Given the description of an element on the screen output the (x, y) to click on. 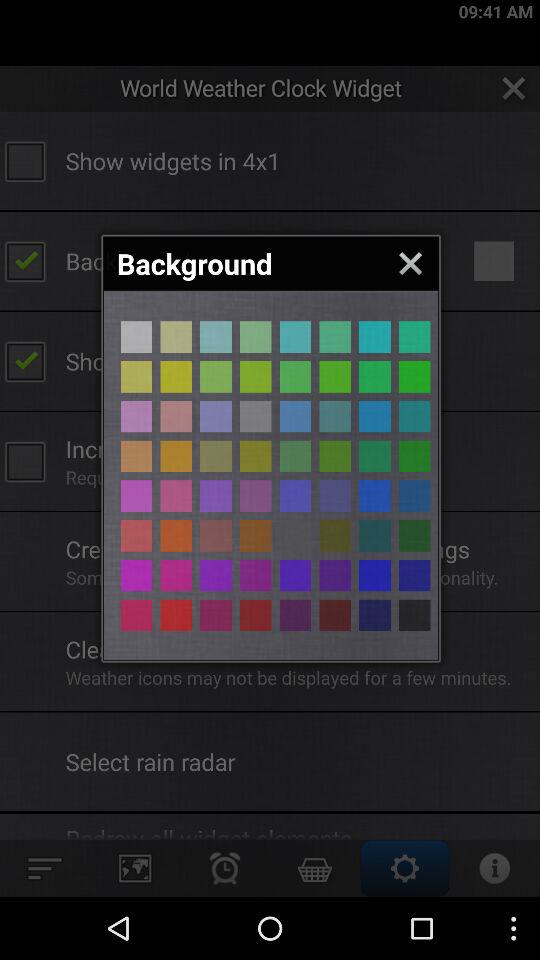
coloring page (335, 615)
